Given the description of an element on the screen output the (x, y) to click on. 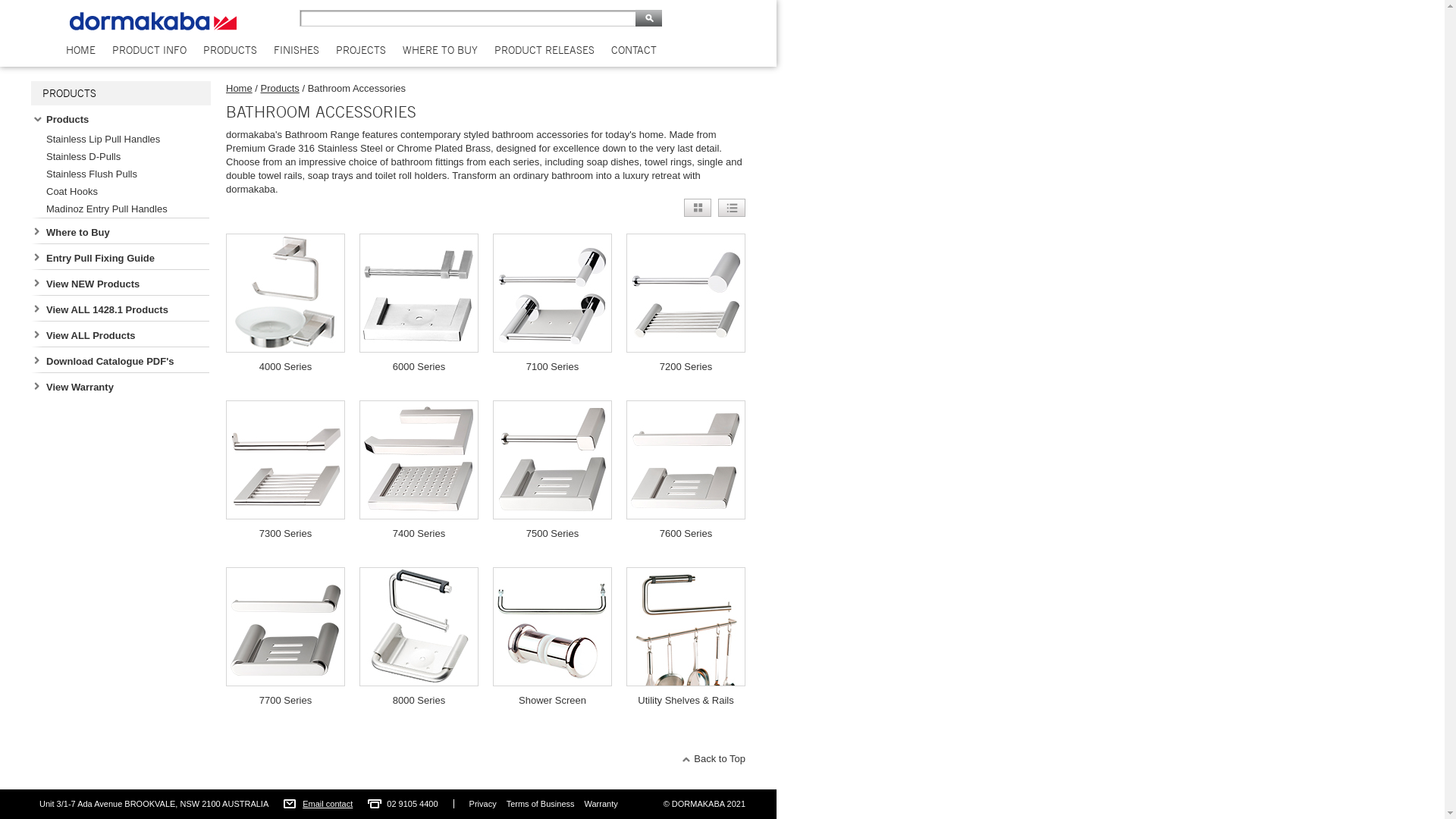
Madinoz Entry Pull Handles Element type: text (125, 207)
Stainless Lip Pull Handles Element type: text (125, 138)
HOME Element type: text (80, 49)
Coat Hooks Element type: text (125, 190)
PRODUCTS Element type: text (230, 49)
Stainless D-Pulls Element type: text (125, 155)
View Warranty Element type: text (125, 385)
View ALL 1428.1 Products Element type: text (125, 308)
Terms of Business Element type: text (540, 803)
Email contact Element type: text (327, 803)
WHERE TO BUY Element type: text (439, 49)
Warranty Element type: text (601, 803)
Products Element type: text (279, 88)
Home Element type: text (238, 88)
PRODUCT INFO Element type: text (149, 49)
Where to Buy Element type: text (125, 231)
Stainless Flush Pulls Element type: text (125, 173)
Entry Pull Fixing Guide Element type: text (125, 256)
PROJECTS Element type: text (360, 49)
Privacy Element type: text (482, 803)
FINISHES Element type: text (296, 49)
Back to Top Element type: text (713, 758)
dormakaba Element type: text (152, 21)
View ALL Products Element type: text (125, 334)
Products Element type: text (125, 118)
Download Catalogue PDF's Element type: text (125, 360)
PRODUCT RELEASES Element type: text (544, 49)
CONTACT Element type: text (633, 49)
View NEW Products Element type: text (125, 282)
